Given the description of an element on the screen output the (x, y) to click on. 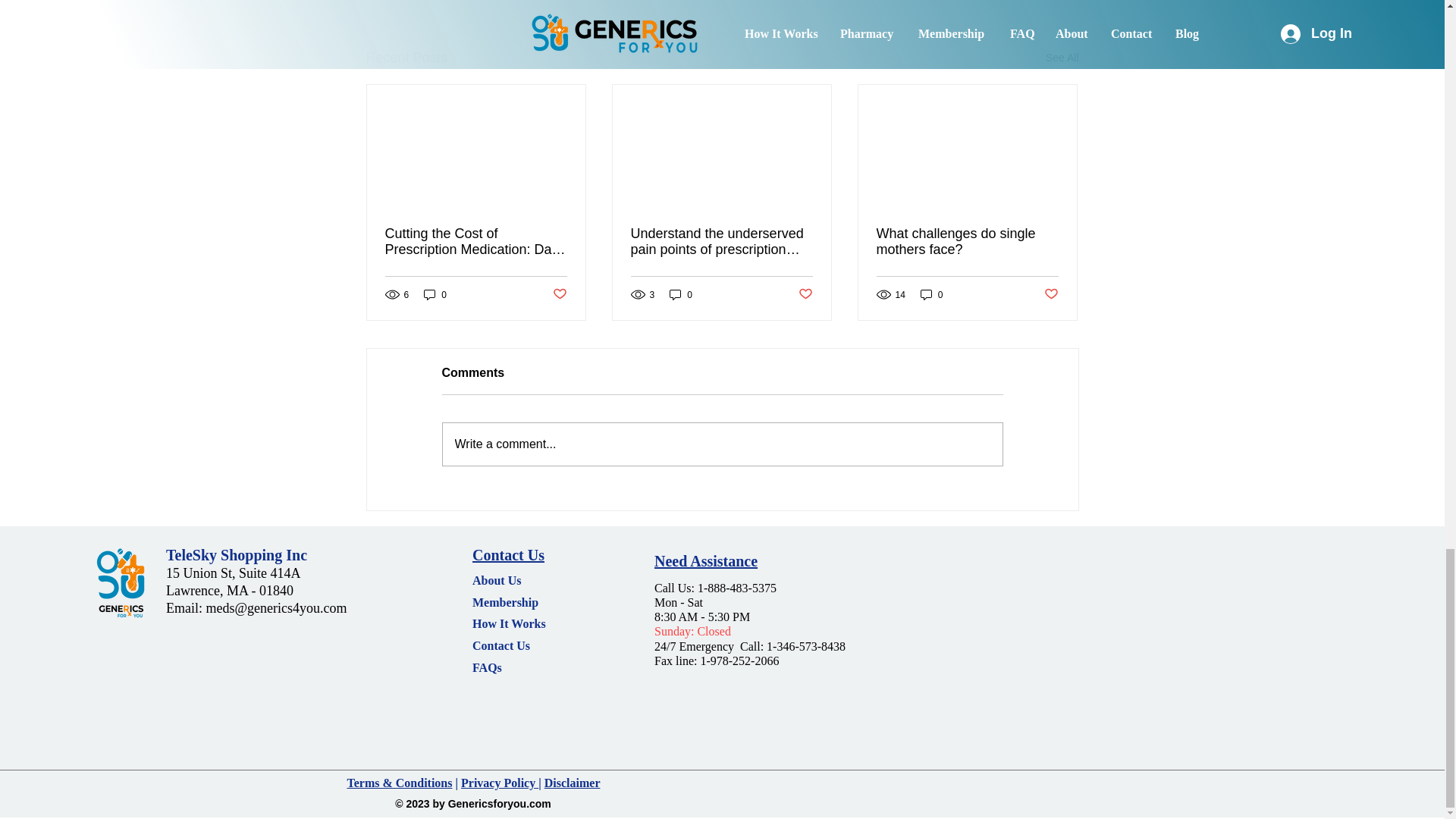
0 (435, 294)
Membership  (506, 602)
Contact Us (500, 645)
0 (681, 294)
What challenges do single mothers face? (967, 241)
150x150.png (120, 583)
How It Works (508, 623)
About Us (496, 580)
0 (931, 294)
Post not marked as liked (1050, 294)
See All (1061, 57)
Post not marked as liked (558, 294)
Post not marked as liked (804, 294)
